Given the description of an element on the screen output the (x, y) to click on. 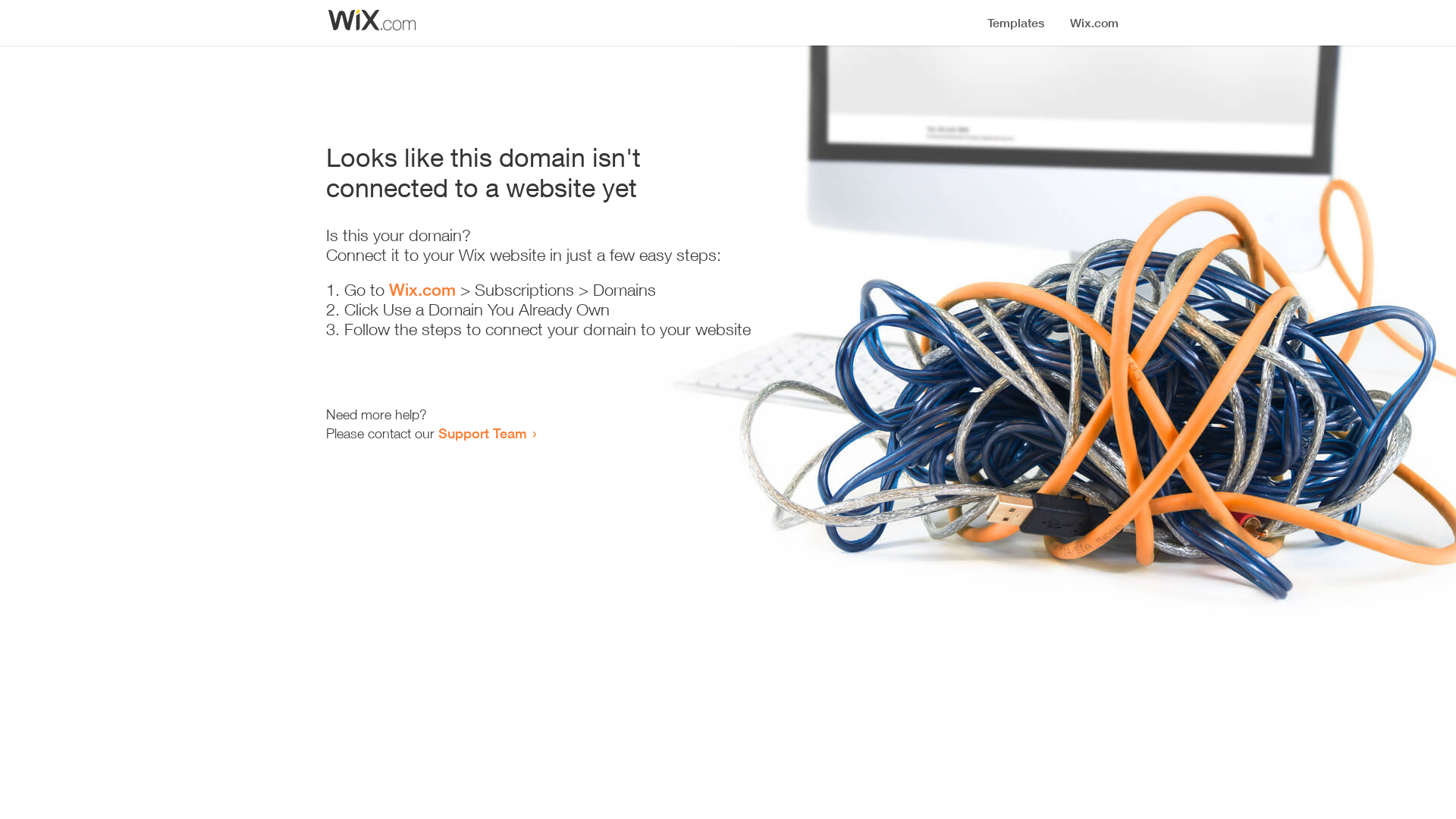
Support Team Element type: text (482, 432)
Wix.com Element type: text (422, 289)
